Given the description of an element on the screen output the (x, y) to click on. 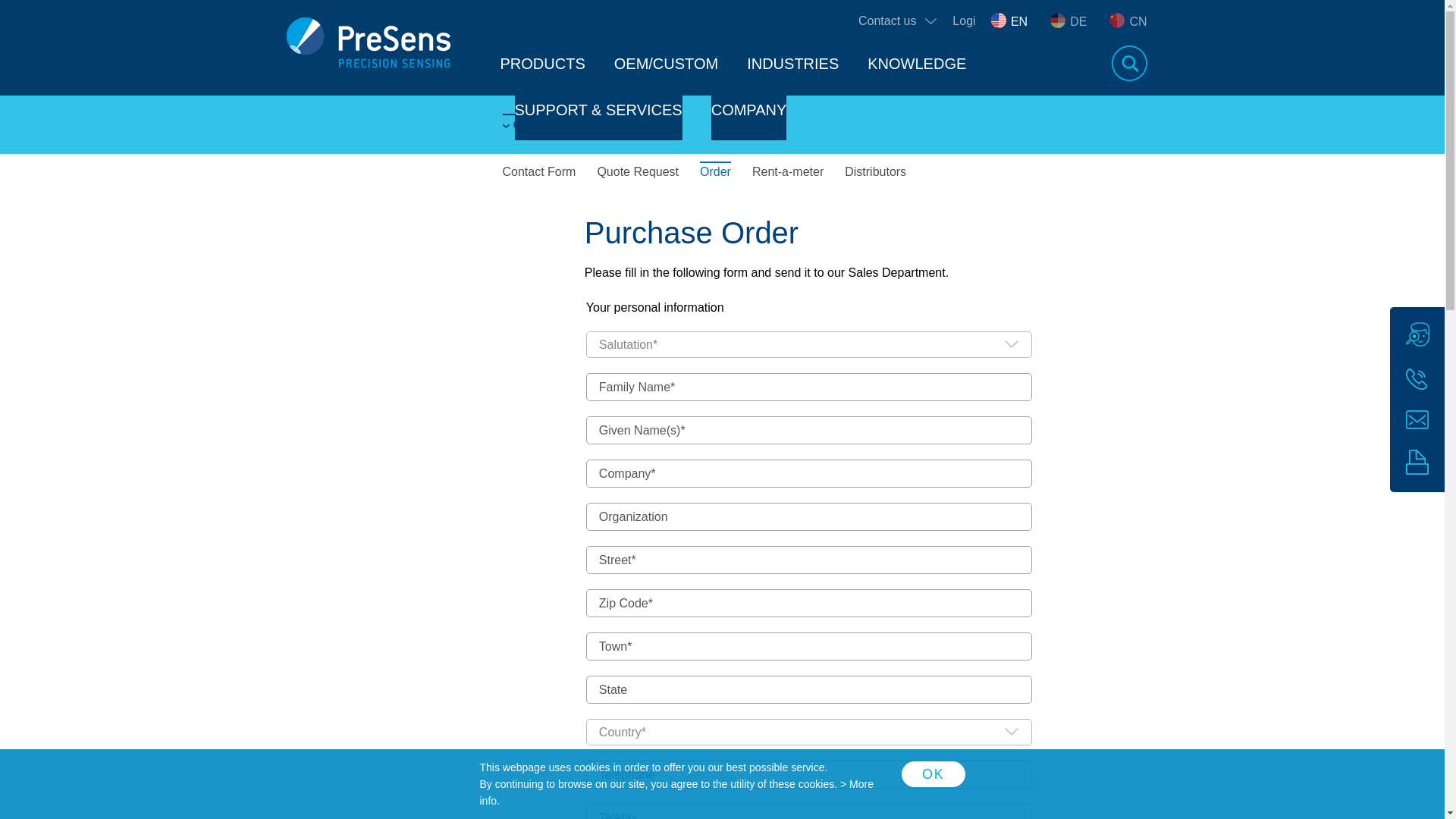
EN (1009, 21)
CN (1128, 21)
DE (1067, 21)
